Given the description of an element on the screen output the (x, y) to click on. 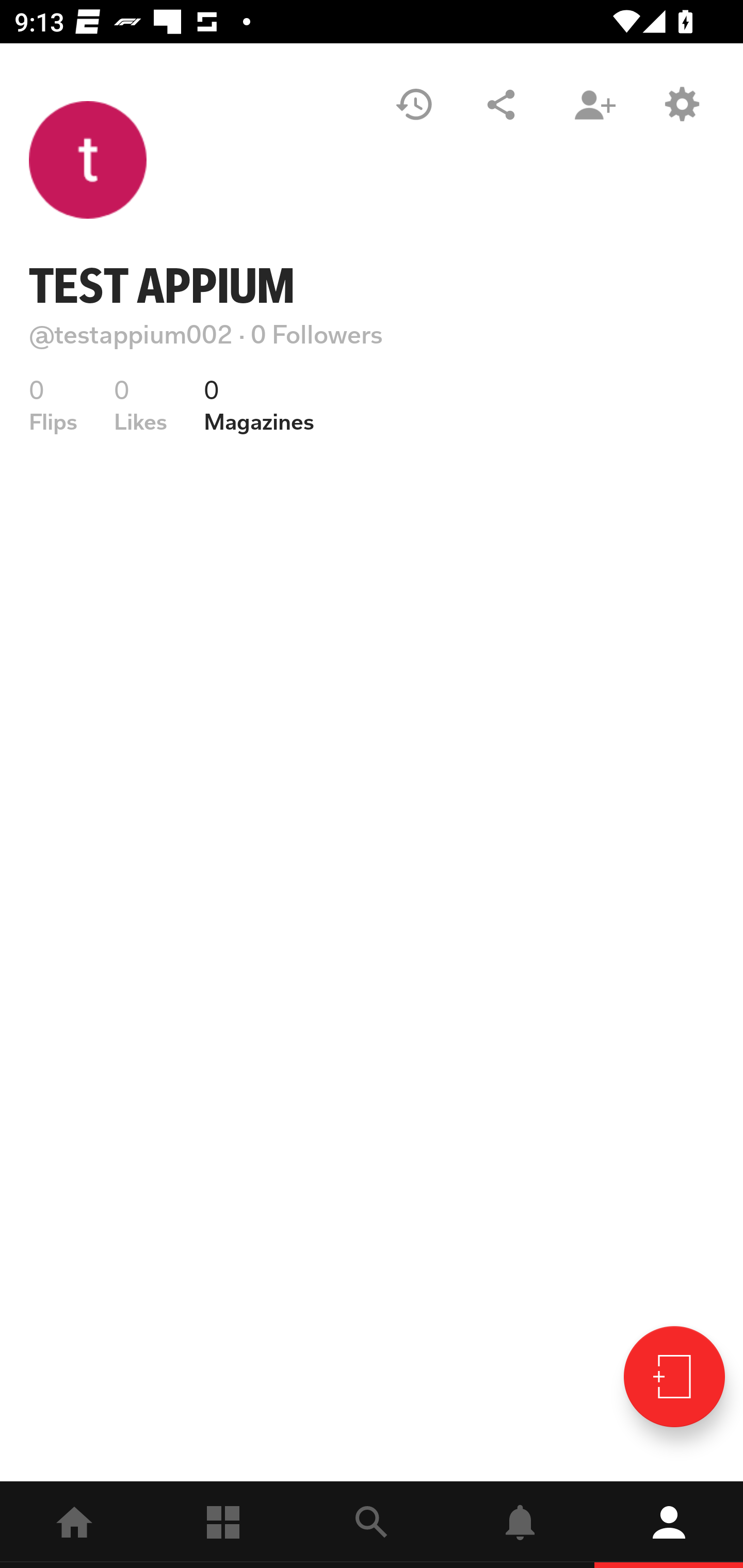
Share (500, 104)
Find Friends (594, 104)
Settings (681, 104)
TEST APPIUM (161, 286)
@testappium002 (130, 334)
0 Followers (317, 334)
0 Flips (53, 405)
0 Likes (140, 405)
0 Magazines (258, 405)
home (74, 1524)
Following (222, 1524)
explore (371, 1524)
Notifications (519, 1524)
Profile (668, 1524)
